Given the description of an element on the screen output the (x, y) to click on. 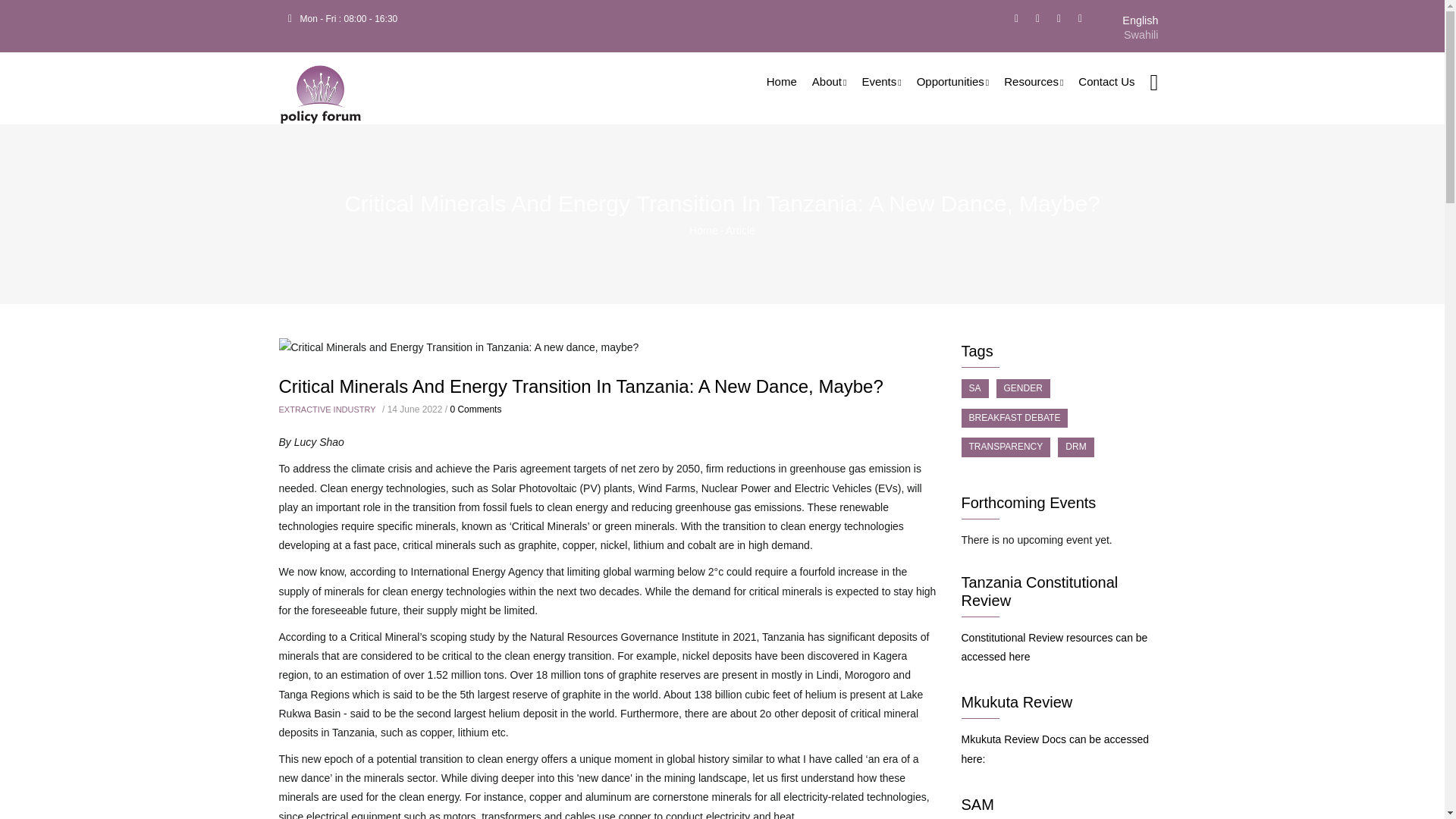
English (1139, 20)
Swahili (1141, 34)
Contact Us (1105, 81)
Opportunities (952, 81)
Home (320, 88)
Resources (1032, 81)
Events (880, 81)
